Given the description of an element on the screen output the (x, y) to click on. 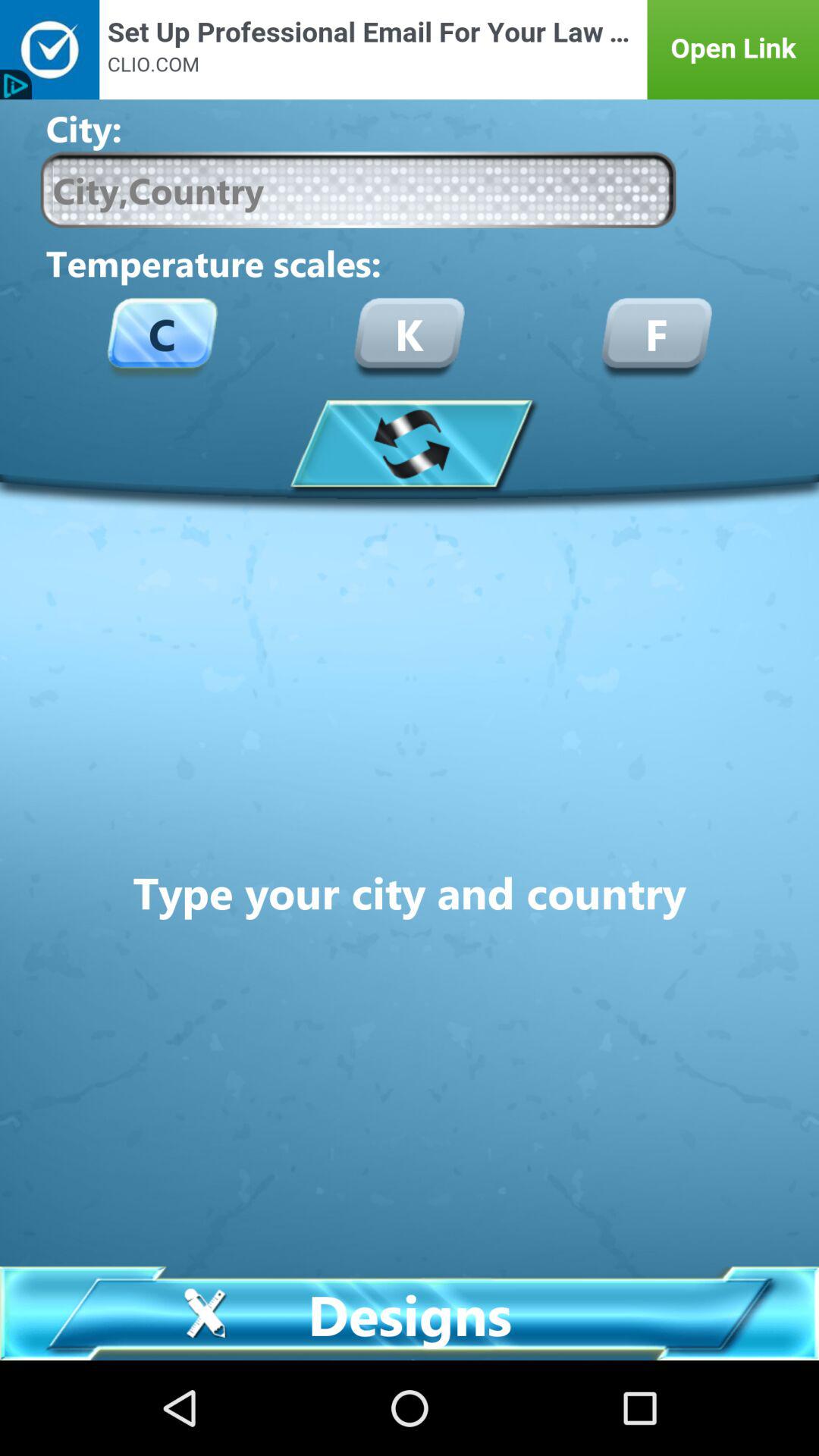
textbox (357, 189)
